Given the description of an element on the screen output the (x, y) to click on. 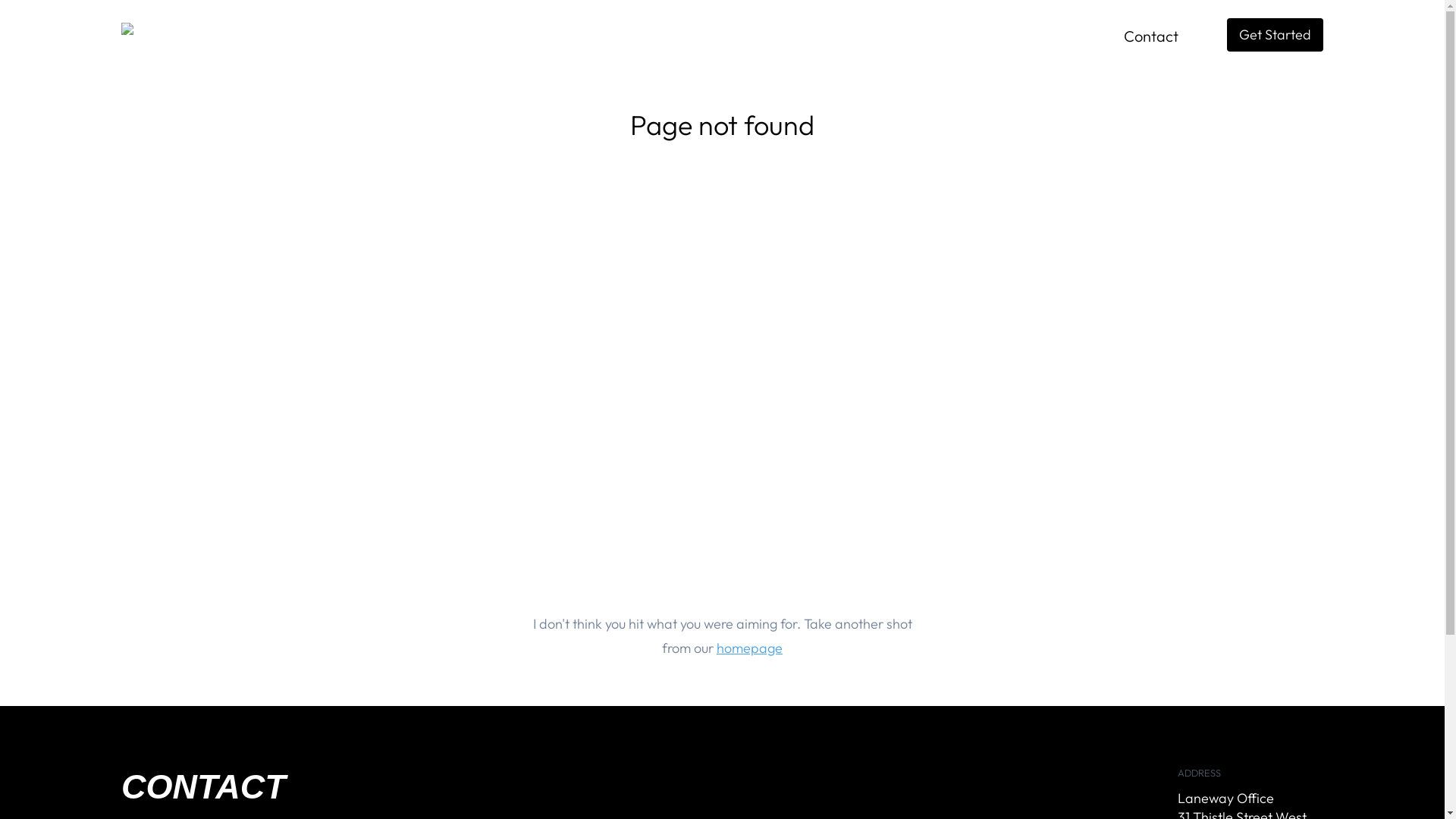
Get Started Element type: text (1274, 34)
homepage Element type: text (749, 647)
CONTACT Element type: text (421, 786)
Contact Element type: text (1150, 35)
